Given the description of an element on the screen output the (x, y) to click on. 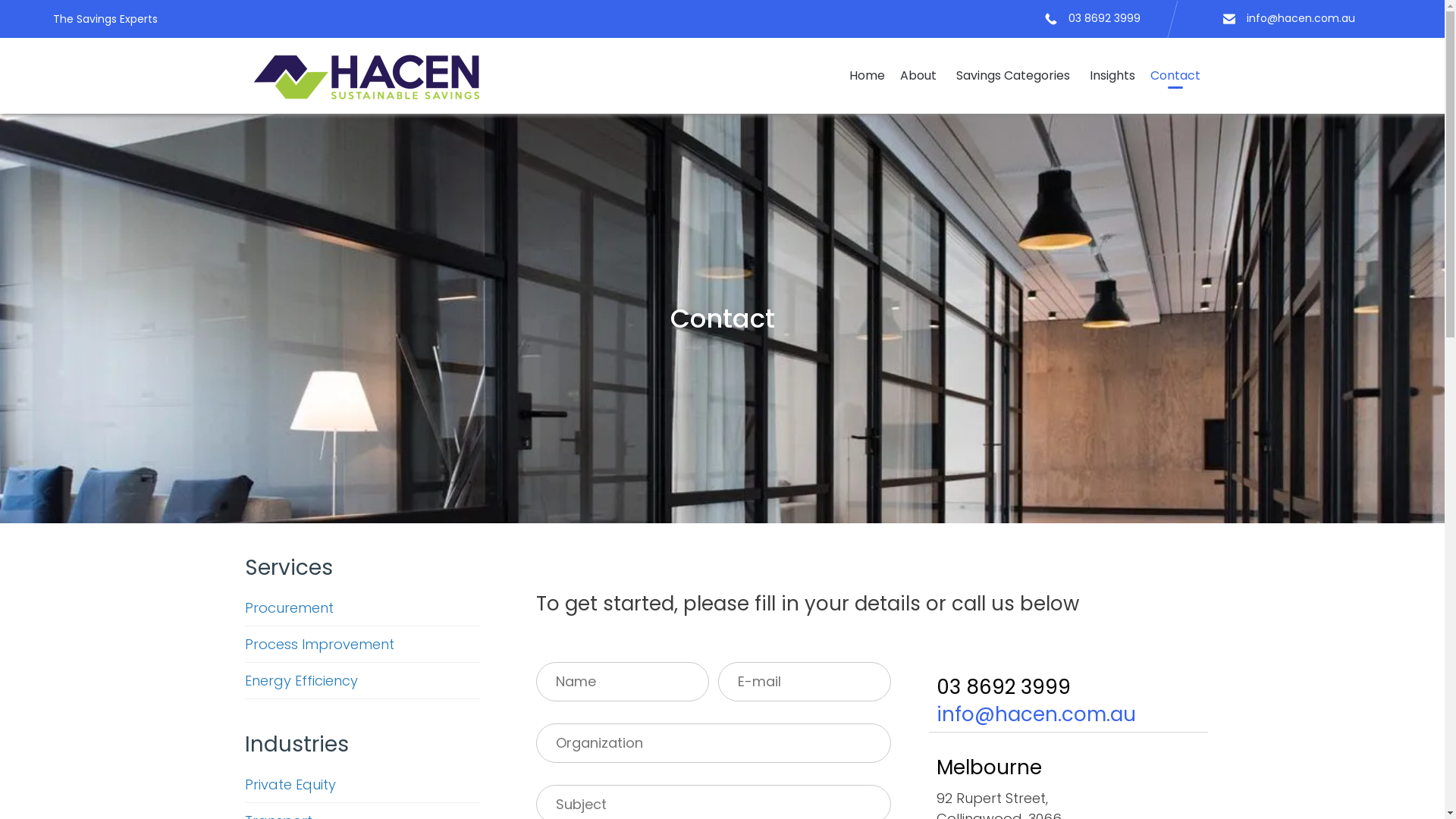
info@hacen.com.au Element type: text (1300, 18)
info@hacen.com.au Element type: text (1035, 714)
Energy Efficiency Element type: text (361, 680)
Private Equity Element type: text (361, 784)
Home Element type: text (866, 75)
Contact Element type: text (1174, 75)
About Element type: text (919, 75)
Savings Categories Element type: text (1014, 75)
Hacen - Sustainable Savings Element type: hover (365, 75)
Insights Element type: text (1111, 75)
Skip to content Element type: text (1207, 56)
Procurement Element type: text (361, 607)
Process Improvement Element type: text (361, 644)
